Given the description of an element on the screen output the (x, y) to click on. 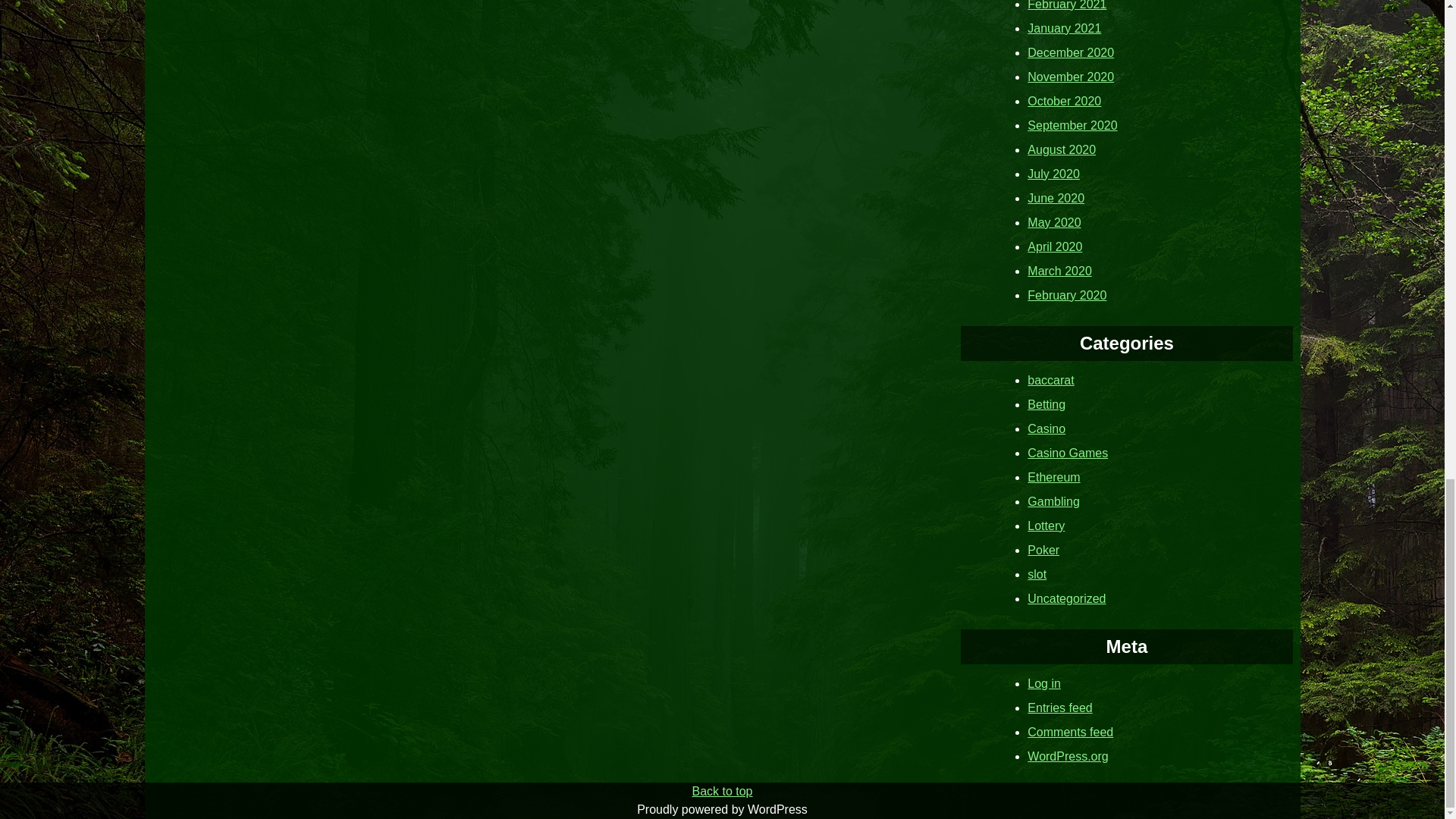
February 2021 (1066, 4)
